Given the description of an element on the screen output the (x, y) to click on. 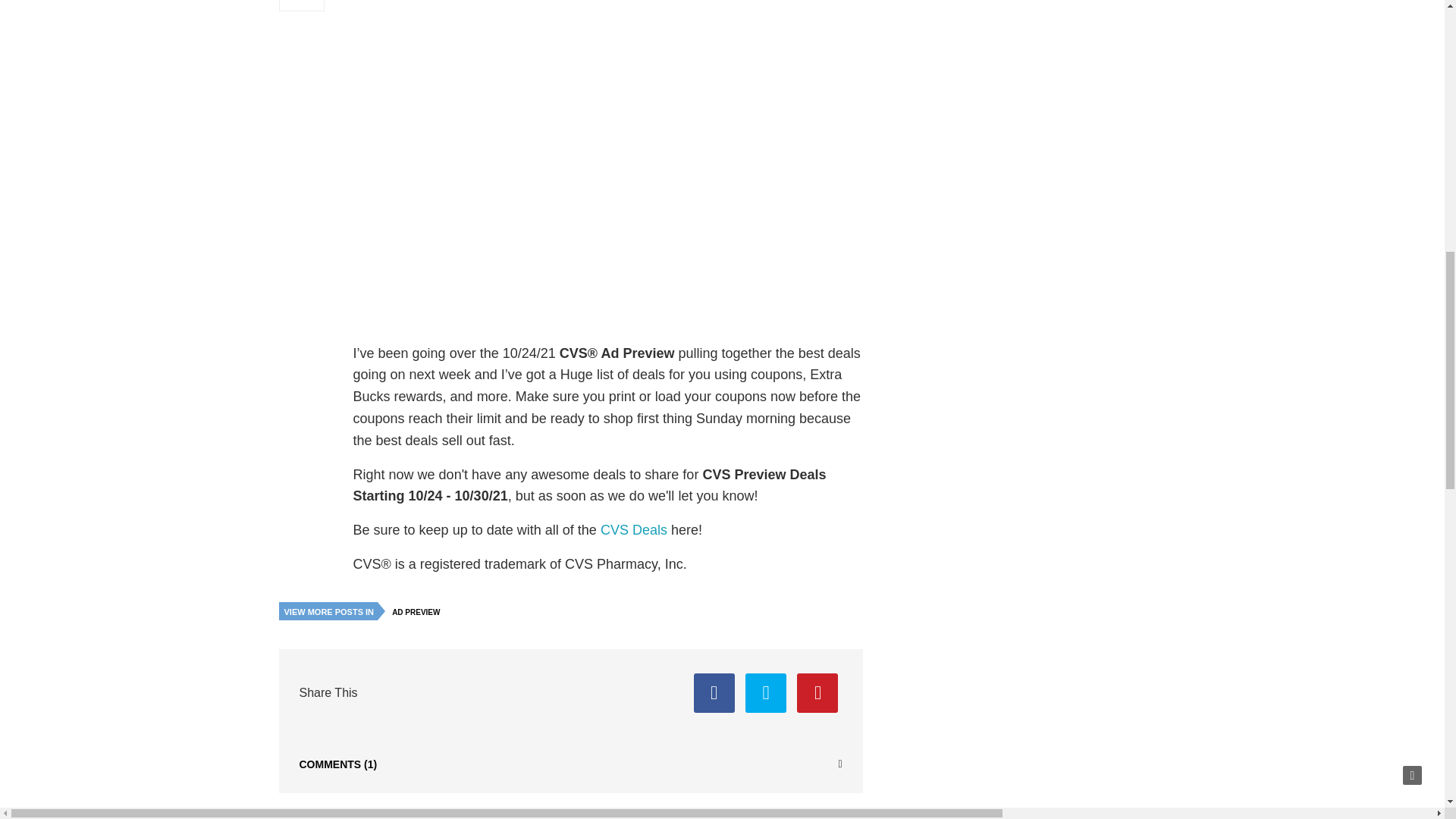
Ad Preview (419, 611)
